Given the description of an element on the screen output the (x, y) to click on. 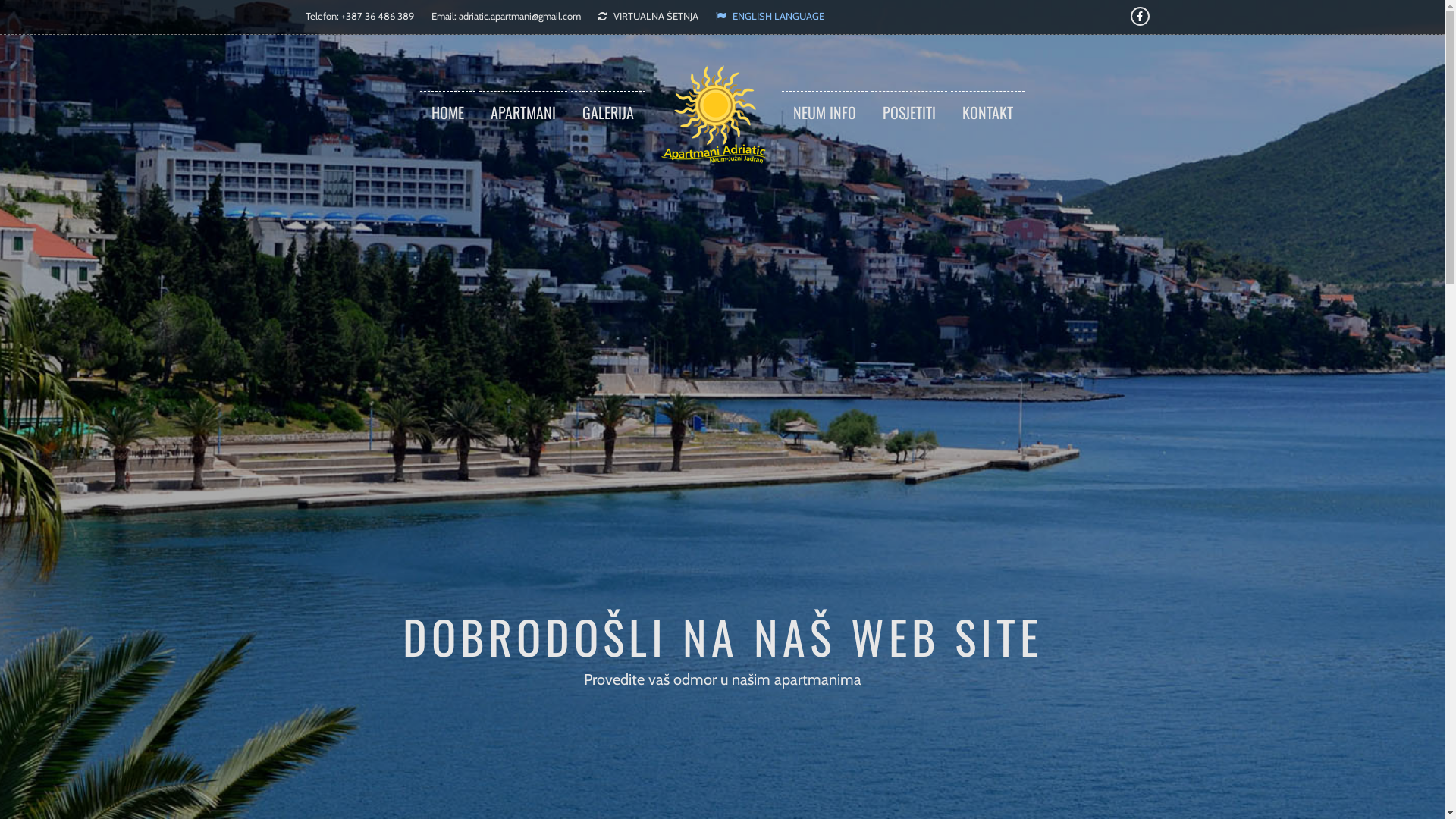
adriatic.apartmani@gmail.com Element type: text (519, 15)
POSJETITI Element type: text (909, 111)
KONTAKT Element type: text (987, 111)
APARTMANI Element type: text (523, 111)
GALERIJA Element type: text (608, 111)
NEUM INFO Element type: text (824, 111)
HOME Element type: text (447, 111)
  ENGLISH LANGUAGE Element type: text (769, 15)
